Given the description of an element on the screen output the (x, y) to click on. 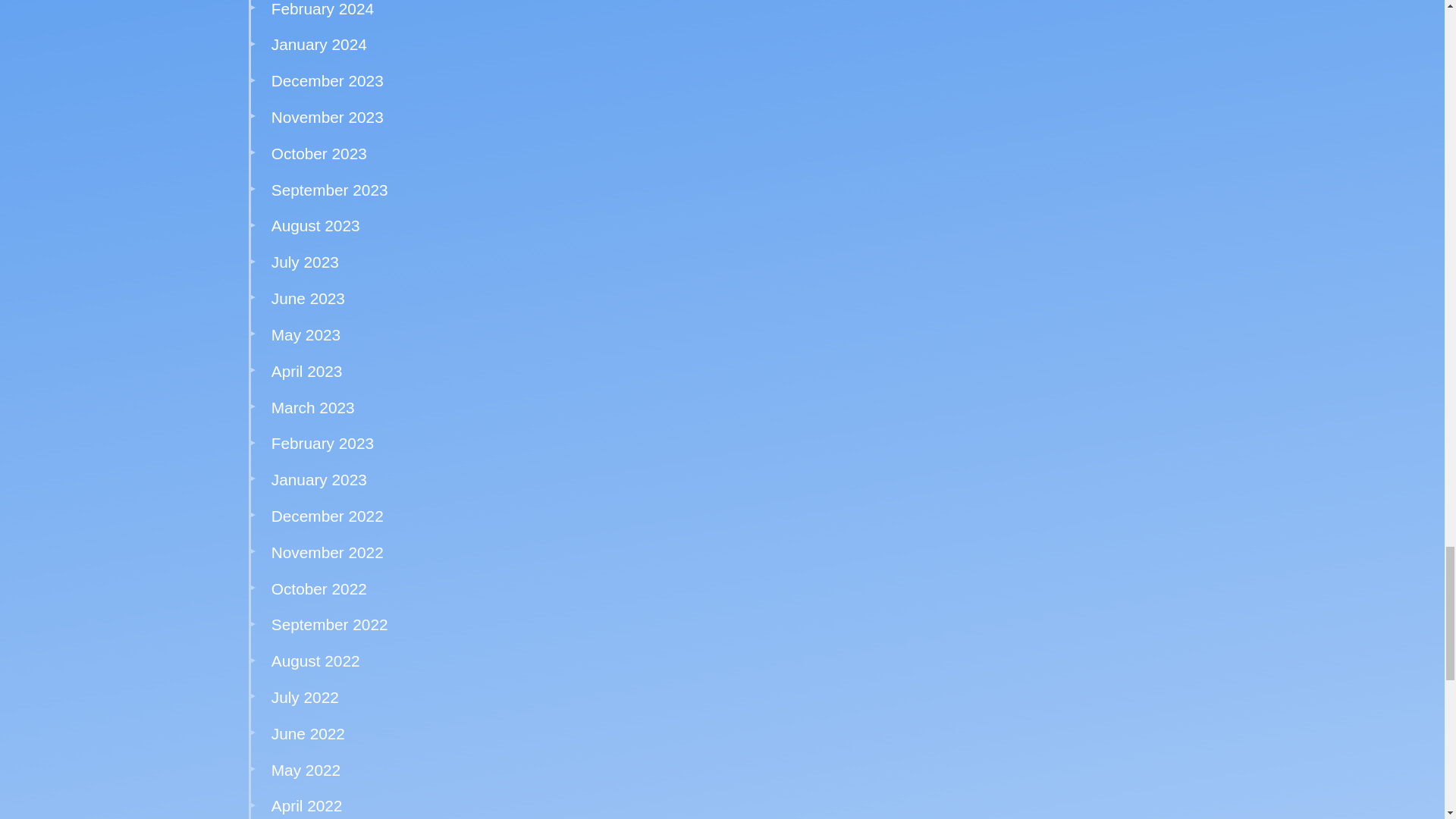
October 2023 (318, 153)
January 2024 (318, 44)
November 2023 (327, 117)
July 2023 (304, 262)
February 2024 (322, 8)
November 2022 (327, 552)
February 2023 (322, 443)
May 2022 (305, 769)
April 2023 (306, 371)
October 2022 (318, 588)
March 2023 (312, 407)
June 2022 (307, 733)
December 2022 (327, 515)
September 2022 (329, 624)
December 2023 (327, 80)
